Given the description of an element on the screen output the (x, y) to click on. 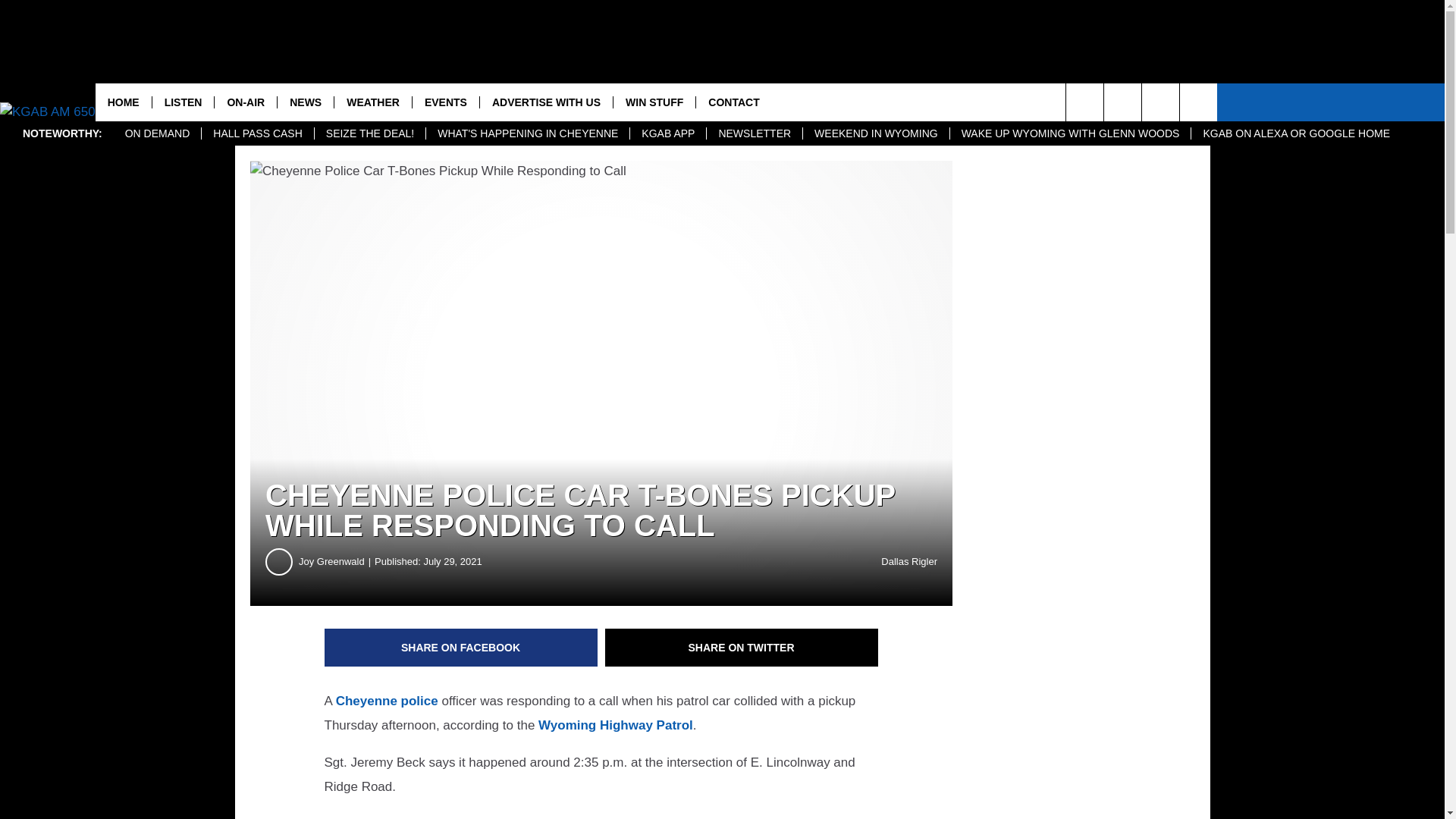
NEWS (304, 102)
SEIZE THE DEAL! (369, 133)
WEEKEND IN WYOMING (875, 133)
Share on Twitter (741, 647)
HOME (123, 102)
NEWSLETTER (754, 133)
HALL PASS CASH (257, 133)
WAKE UP WYOMING WITH GLENN WOODS (1070, 133)
LISTEN (182, 102)
WEATHER (372, 102)
